Given the description of an element on the screen output the (x, y) to click on. 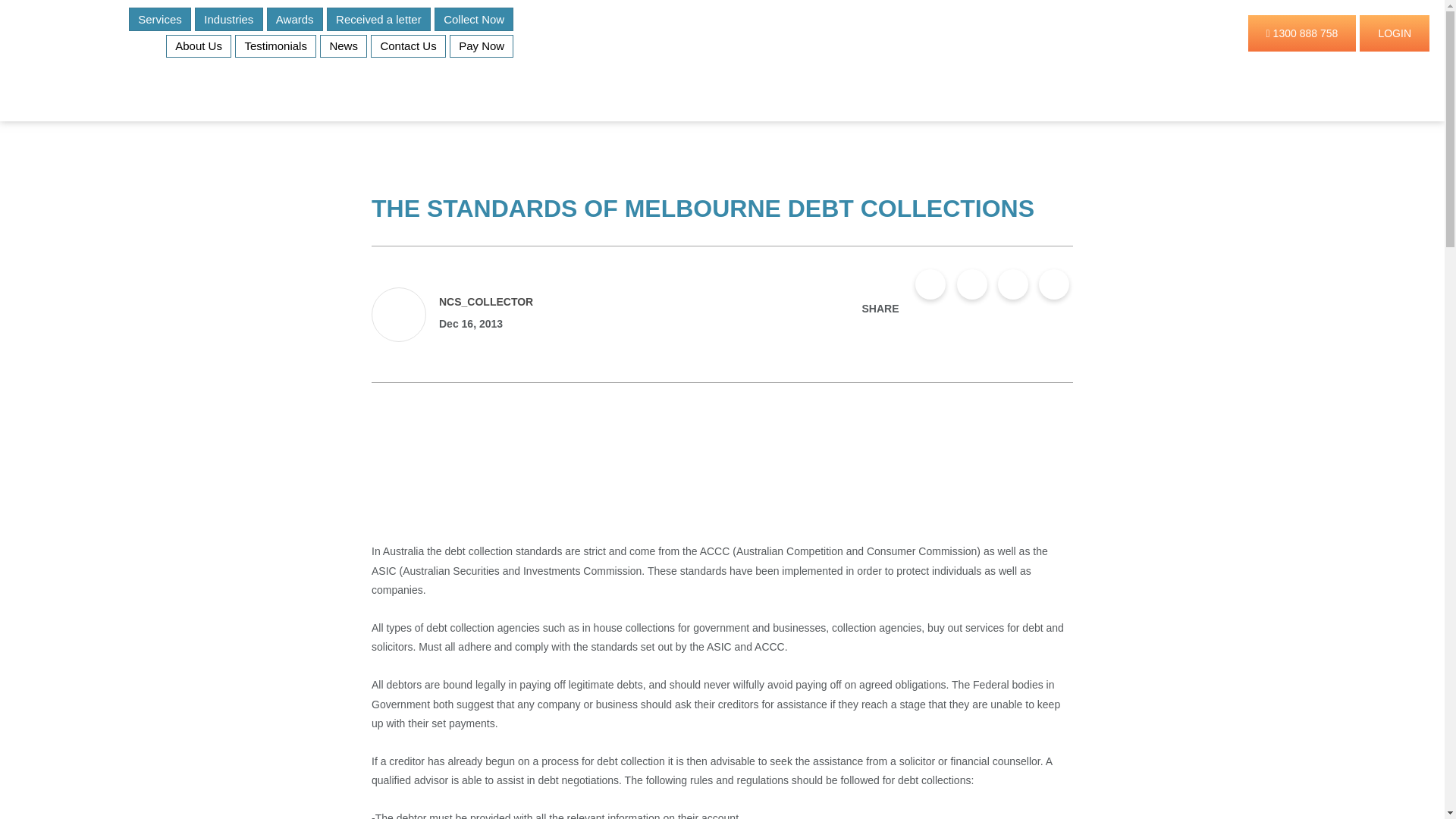
Testimonials (274, 46)
1300 888 758 (1301, 33)
Contact Us (408, 46)
Industries (229, 19)
Received a letter (378, 19)
LOGIN (1394, 33)
Awards (294, 19)
About Us (198, 46)
Collect Now (473, 19)
Services (159, 19)
